Given the description of an element on the screen output the (x, y) to click on. 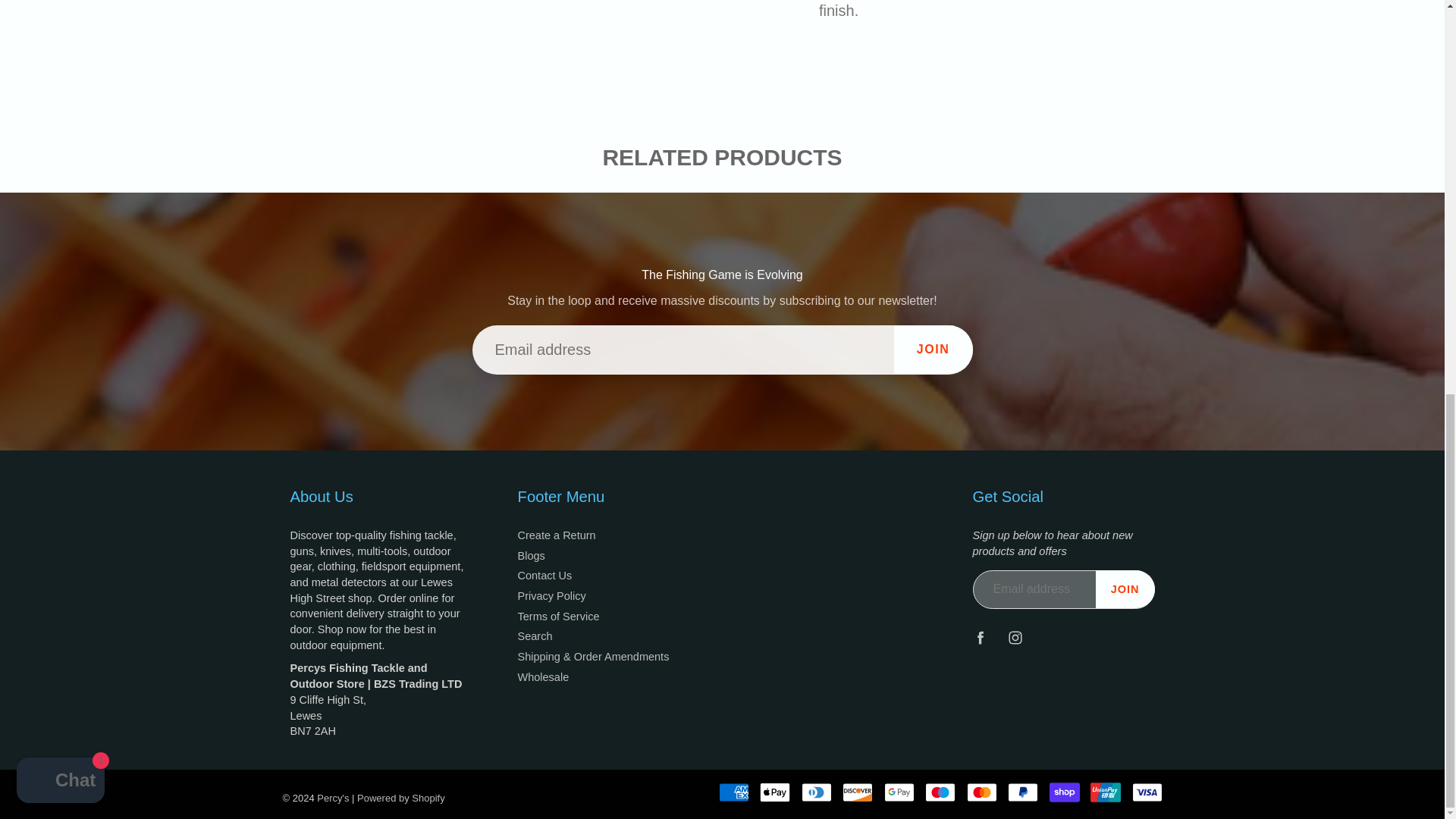
Discover (857, 792)
Maestro (939, 792)
Google Pay (898, 792)
Shop Pay (1064, 792)
Visa (1146, 792)
Union Pay (1105, 792)
Apple Pay (775, 792)
Diners Club (816, 792)
PayPal (1022, 792)
American Express (734, 792)
Mastercard (981, 792)
